Given the description of an element on the screen output the (x, y) to click on. 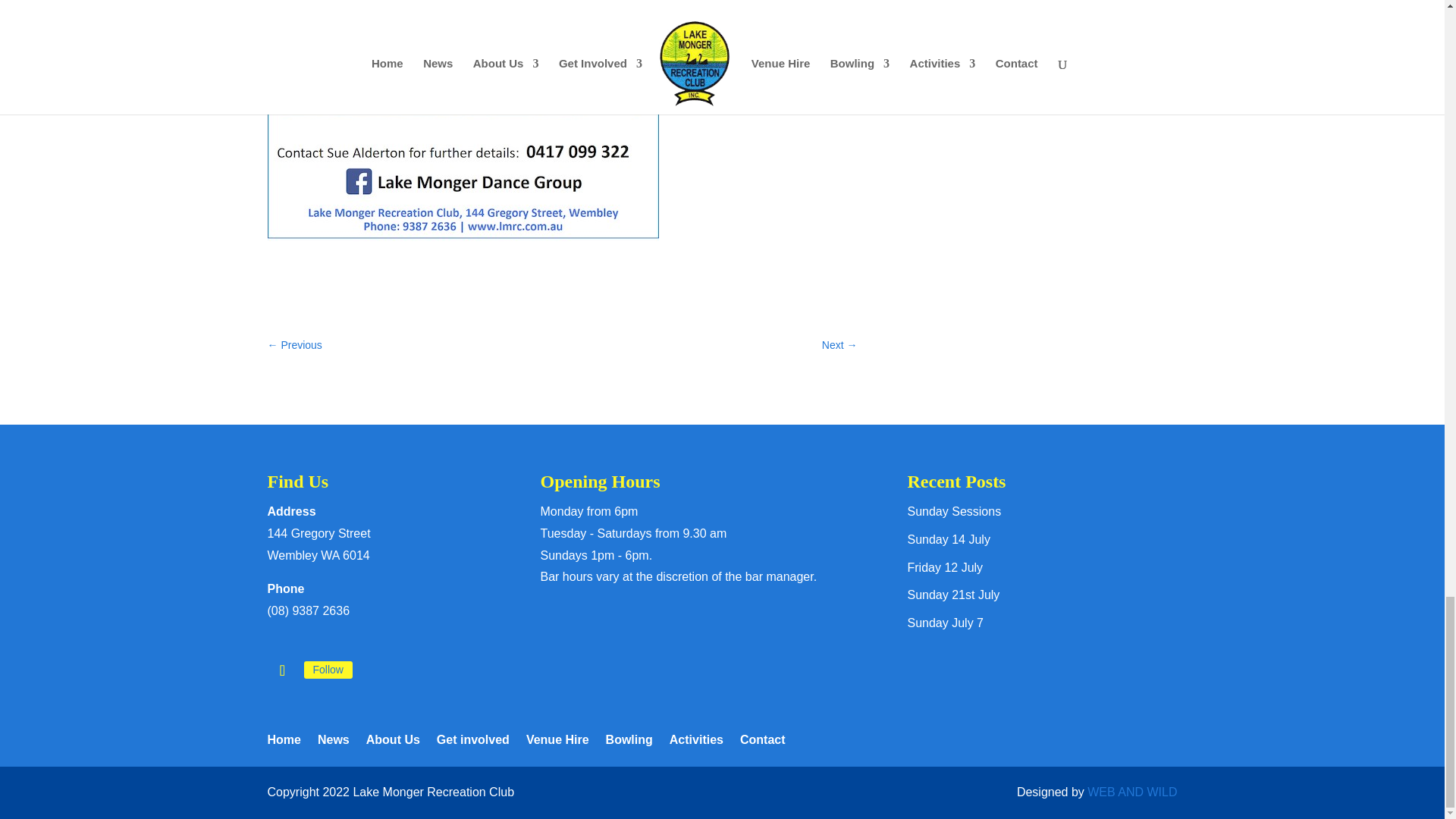
Facebook (327, 669)
Follow on Facebook (281, 670)
